Given the description of an element on the screen output the (x, y) to click on. 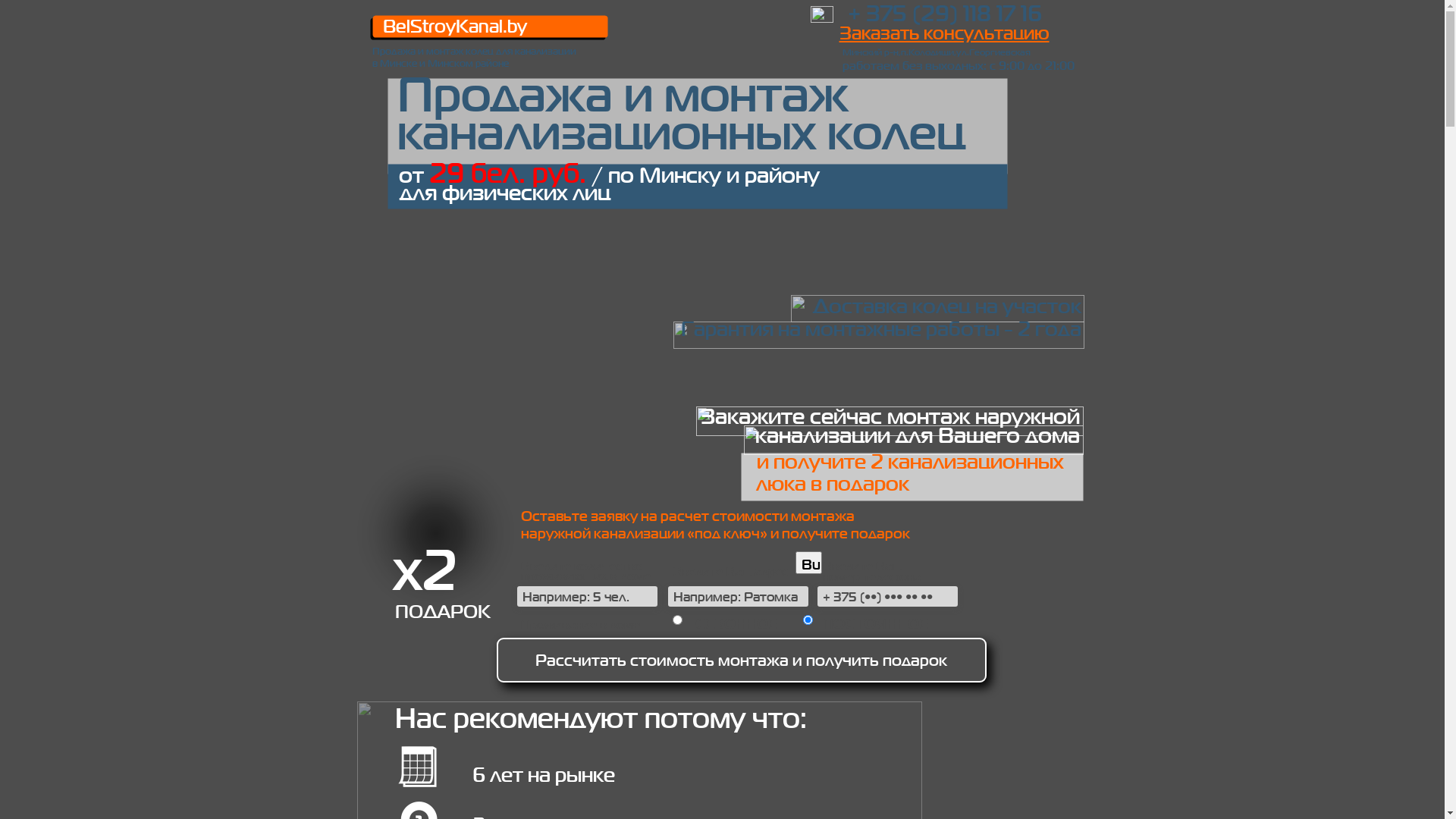
BelStroyKanal.by Element type: text (454, 25)
